Given the description of an element on the screen output the (x, y) to click on. 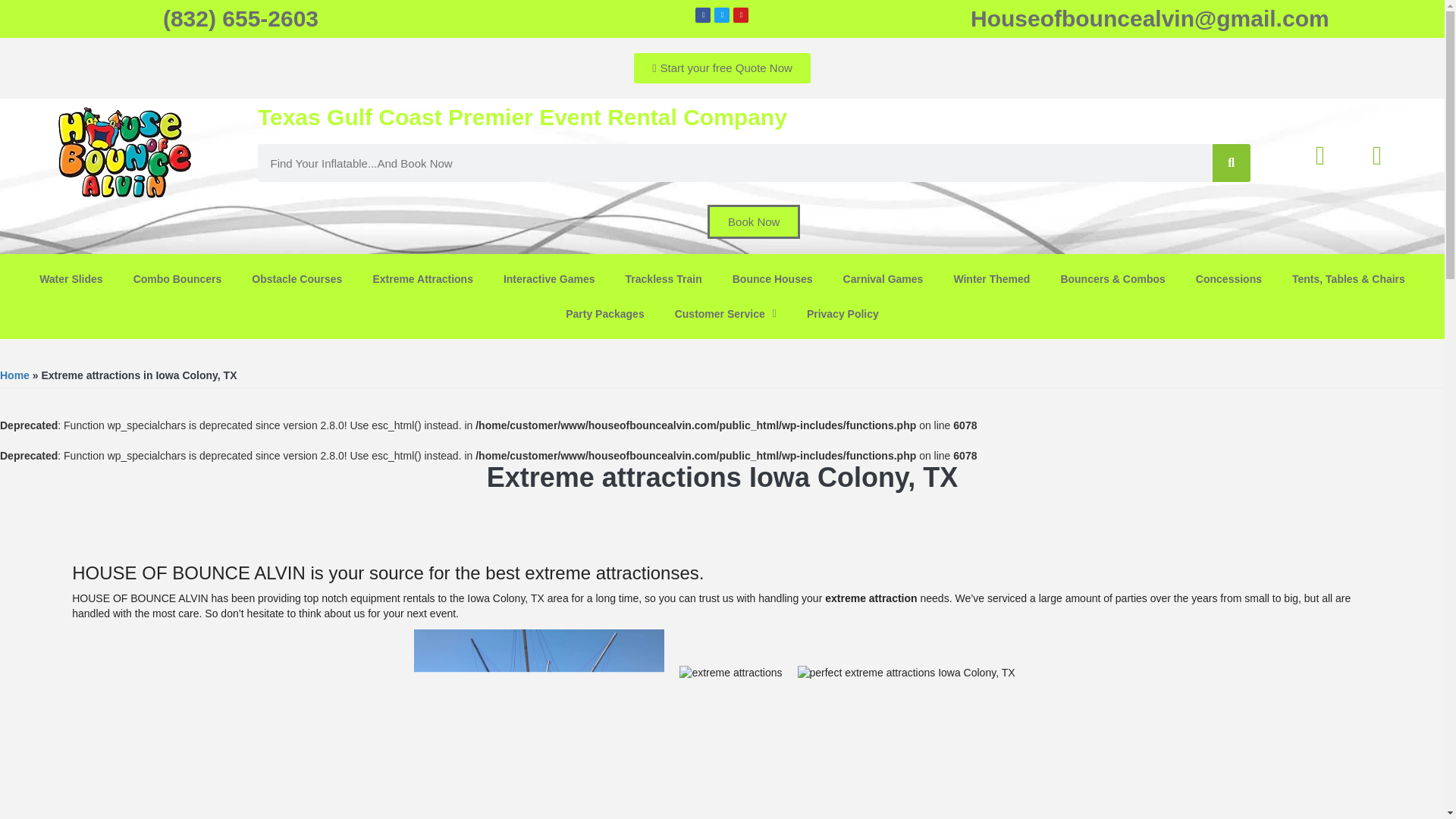
Book Now (753, 221)
Customer Service (725, 313)
Winter Themed (991, 278)
Interactive Games (548, 278)
Party Packages (604, 313)
Privacy Policy (842, 313)
Obstacle Courses (295, 278)
Combo Bouncers (177, 278)
Carnival Games (883, 278)
Extreme Attractions (421, 278)
Trackless Train (663, 278)
Start your free Quote Now (721, 68)
Water Slides (70, 278)
Bounce Houses (772, 278)
Concessions (1228, 278)
